Given the description of an element on the screen output the (x, y) to click on. 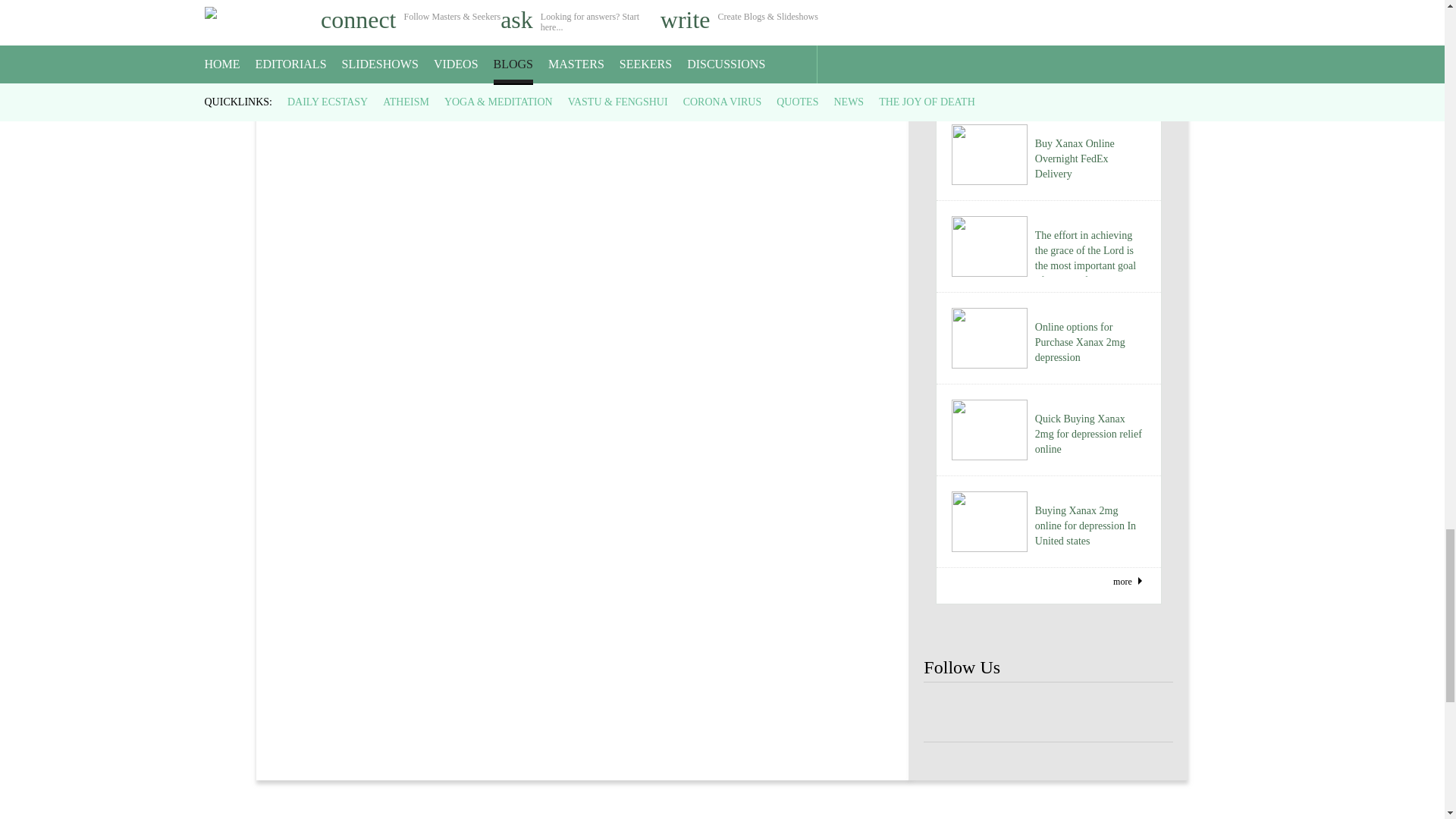
Speaking Tree FaceBook (948, 712)
Speaking Tree FaceBook (1099, 712)
Speaking Tree FaceBook (998, 712)
Speaking Tree FaceBook (1048, 712)
Speaking Tree FaceBook (1147, 712)
